Given the description of an element on the screen output the (x, y) to click on. 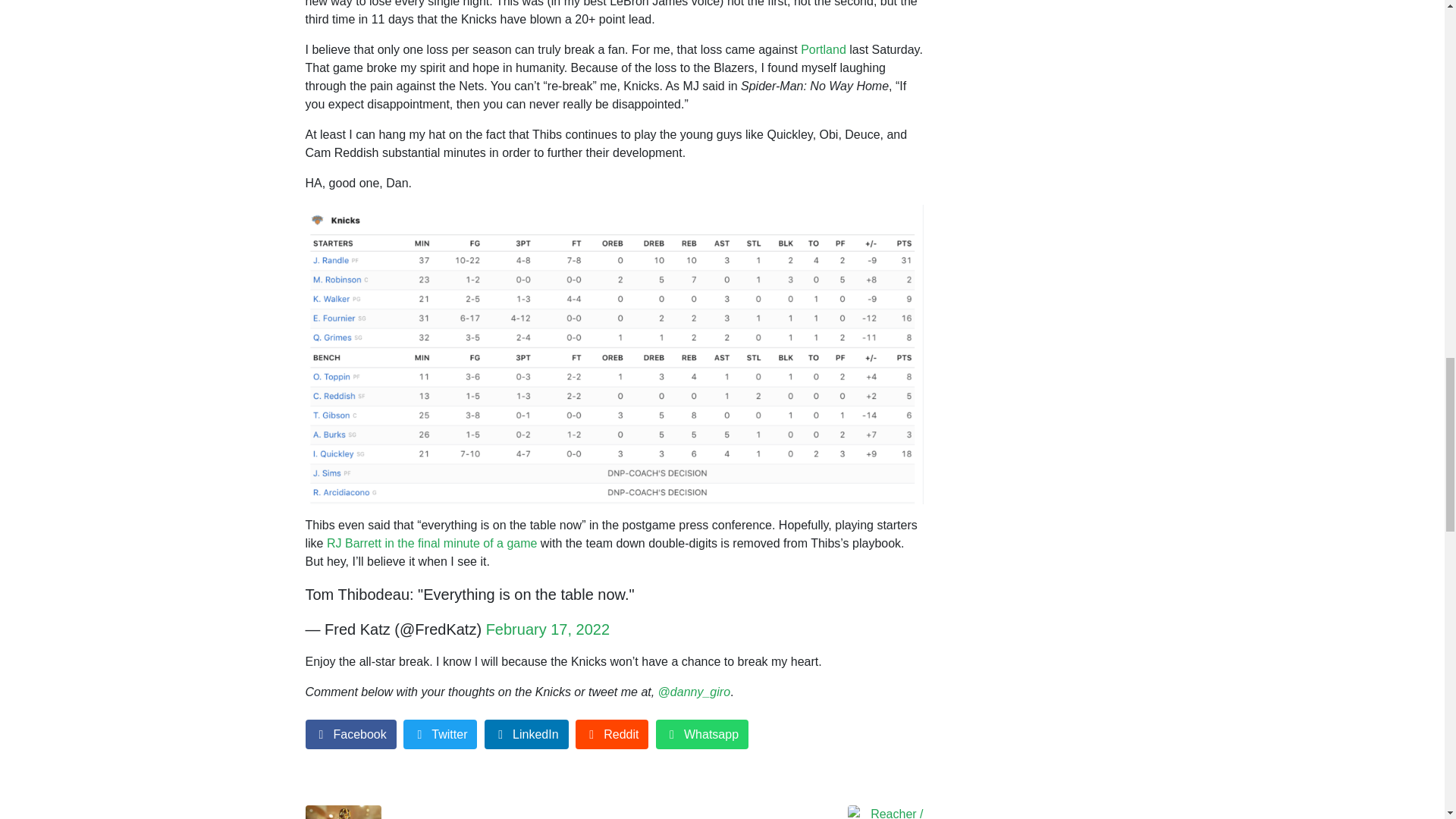
2022 Oscars Discussion, Vol 5: Improving The Telecast (454, 812)
Reacher Understands The Assignment (774, 812)
